Given the description of an element on the screen output the (x, y) to click on. 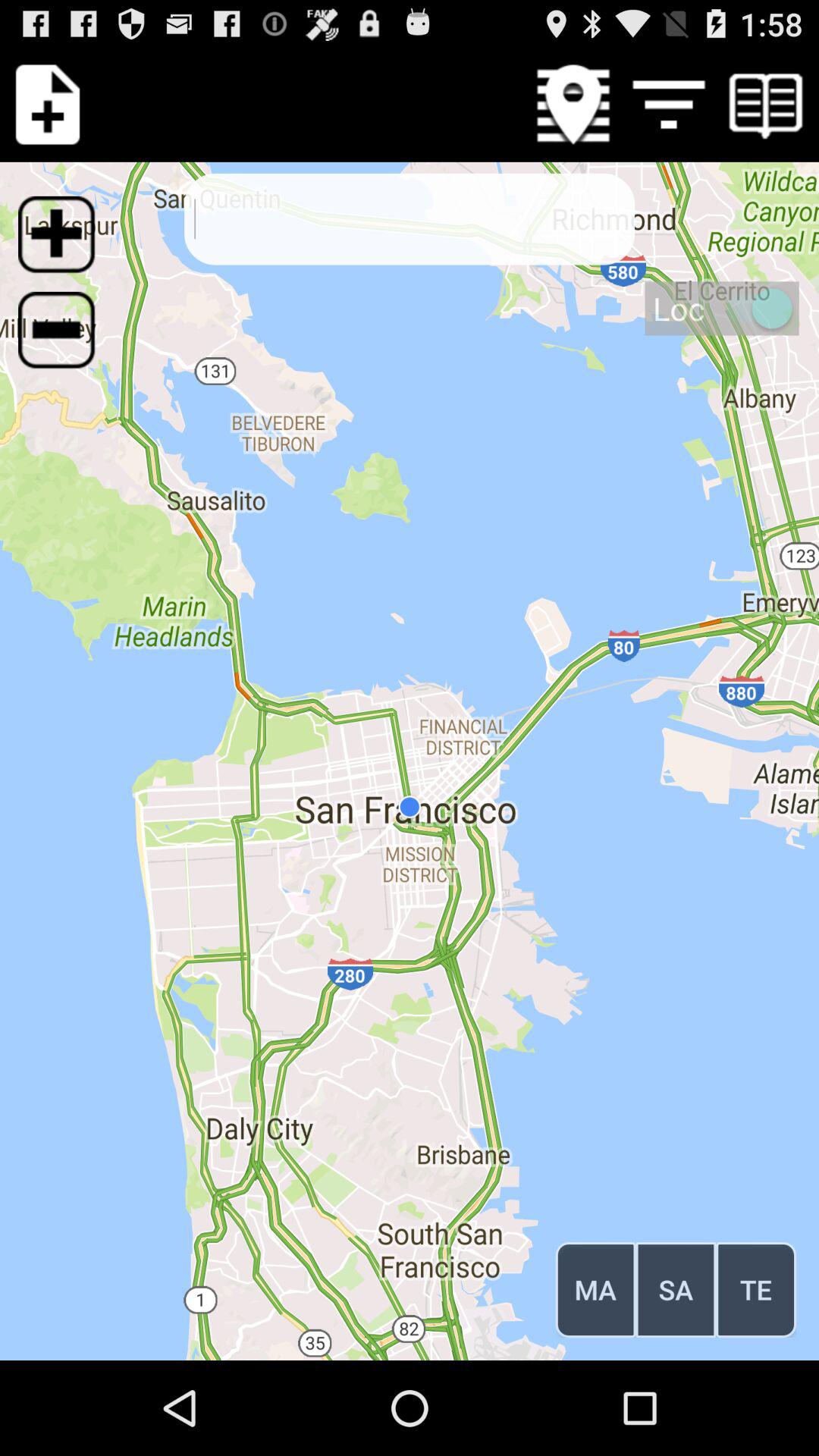
turn off button to the left of sa icon (595, 1289)
